Given the description of an element on the screen output the (x, y) to click on. 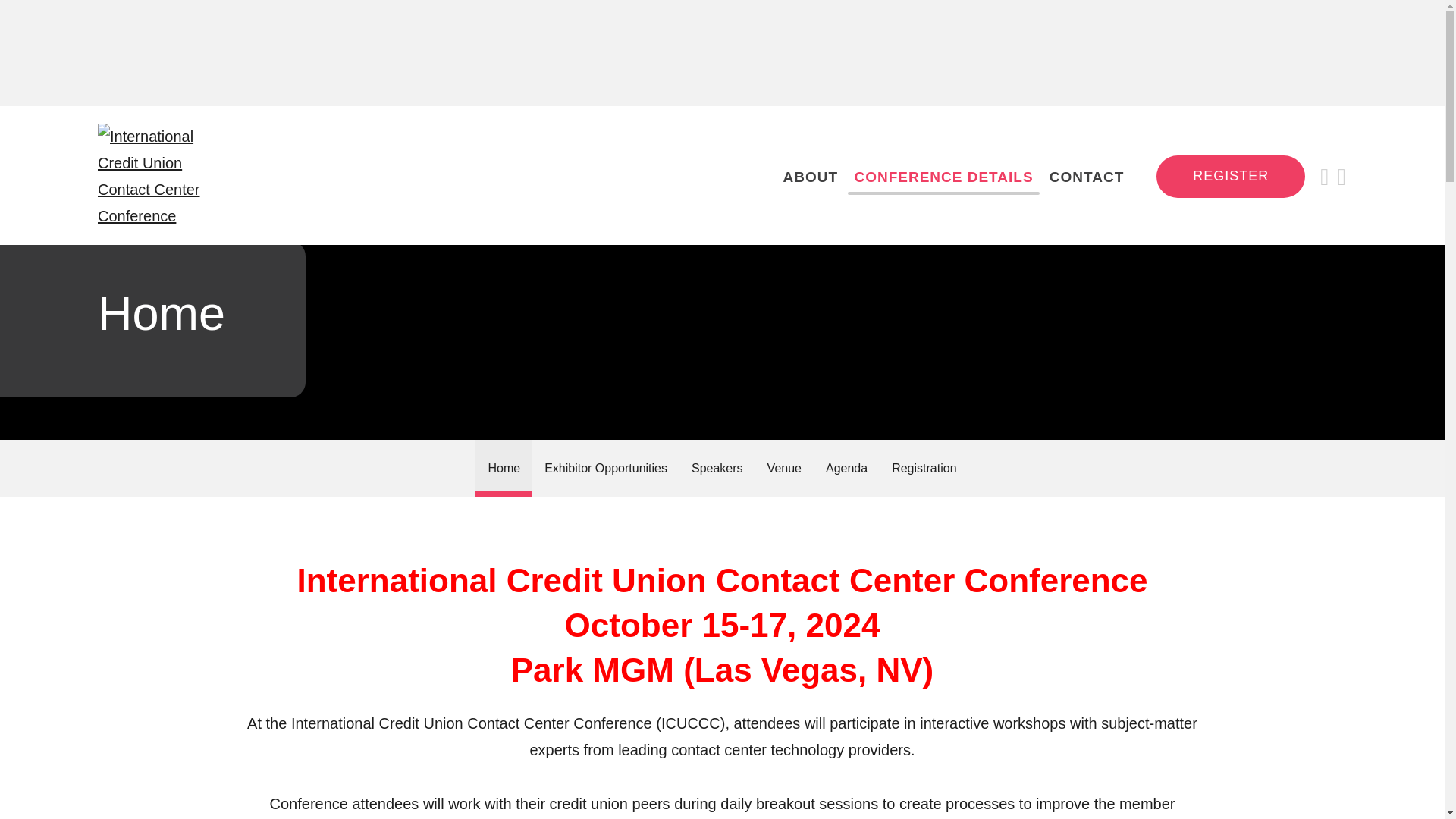
Home (504, 467)
Speakers (717, 467)
CONTACT (1086, 176)
ABOUT (810, 176)
REGISTER (1230, 176)
CONFERENCE DETAILS (942, 176)
Exhibitor Opportunities (605, 467)
Registration (923, 467)
Agenda (846, 467)
Venue (784, 467)
